Given the description of an element on the screen output the (x, y) to click on. 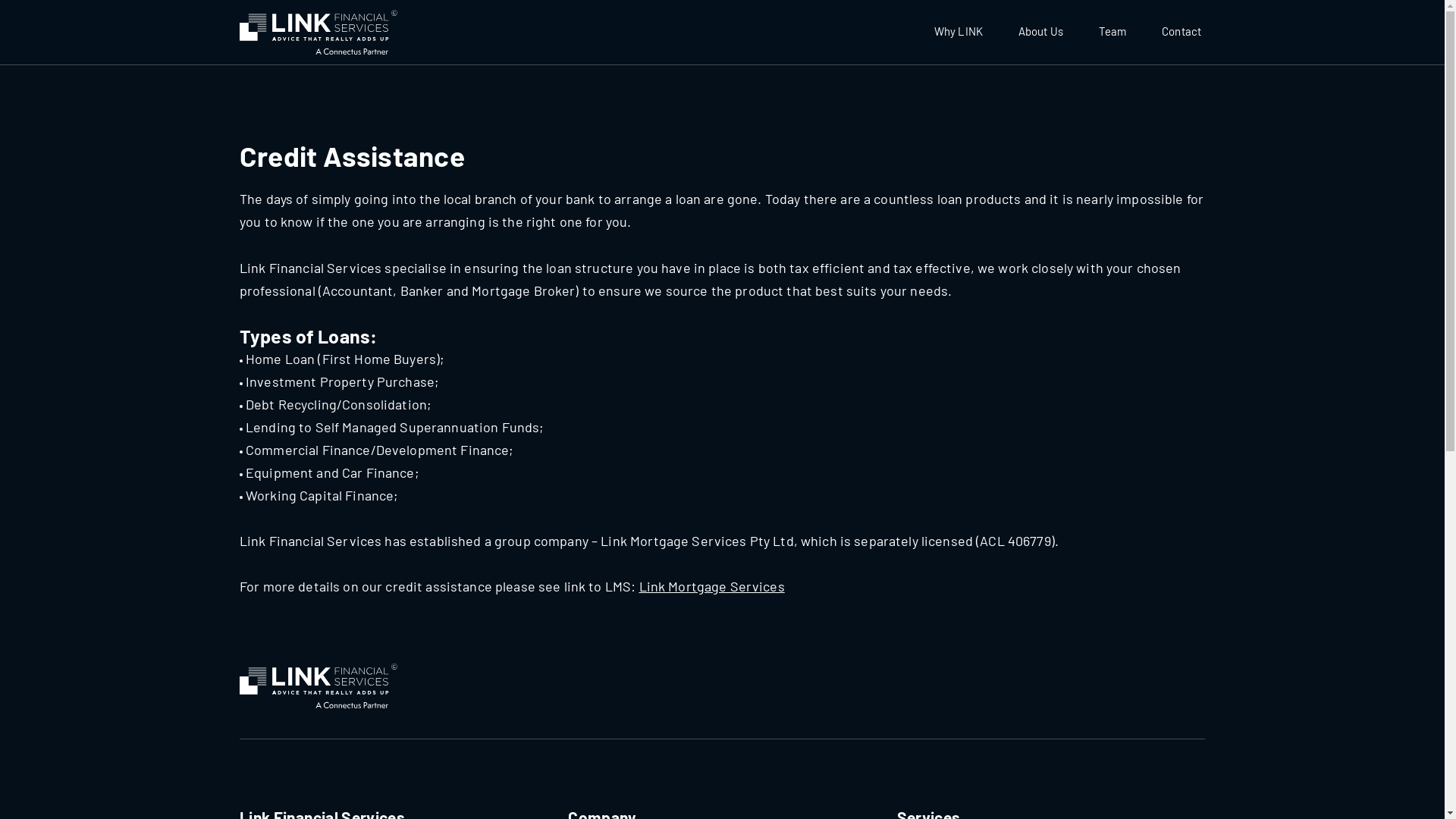
Link Mortgage Services Element type: text (711, 585)
Contact Element type: text (1180, 31)
About Us Element type: text (1040, 31)
Team Element type: text (1112, 31)
Why LINK Element type: text (958, 31)
